Given the description of an element on the screen output the (x, y) to click on. 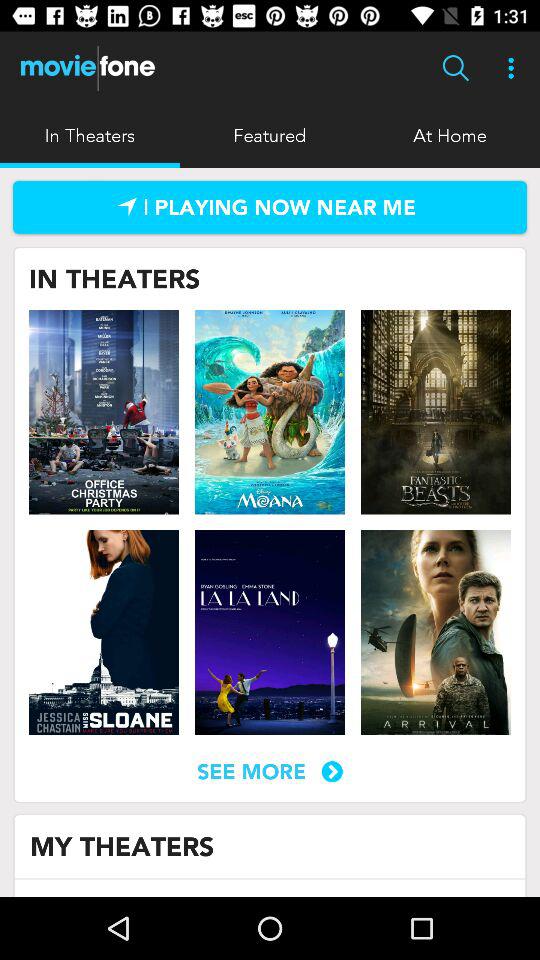
movie thumbnail (435, 411)
